Given the description of an element on the screen output the (x, y) to click on. 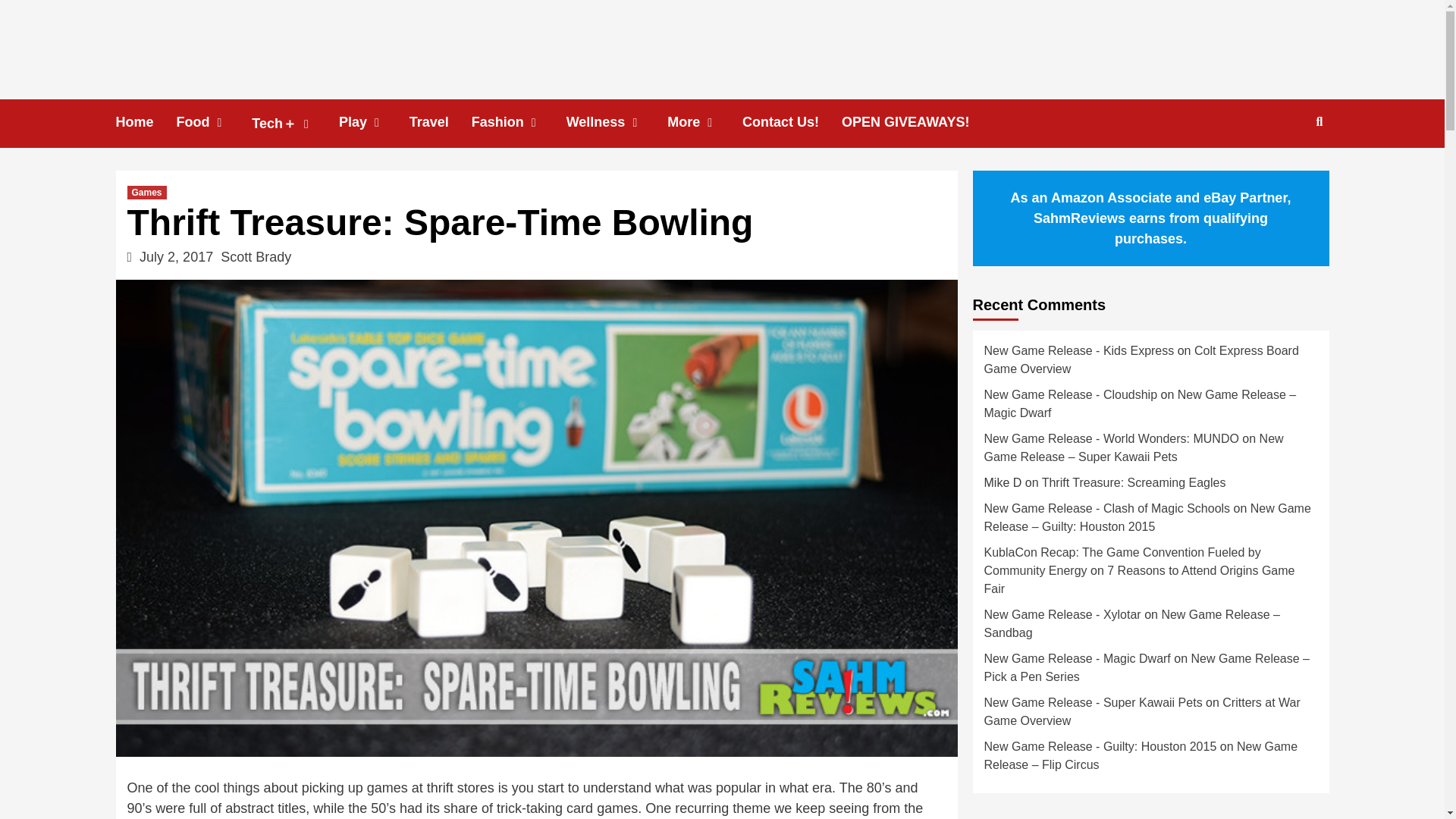
Home (145, 122)
Fashion (518, 122)
Wellness (617, 122)
Play (374, 122)
Food (213, 122)
More (704, 122)
Travel (440, 122)
